Given the description of an element on the screen output the (x, y) to click on. 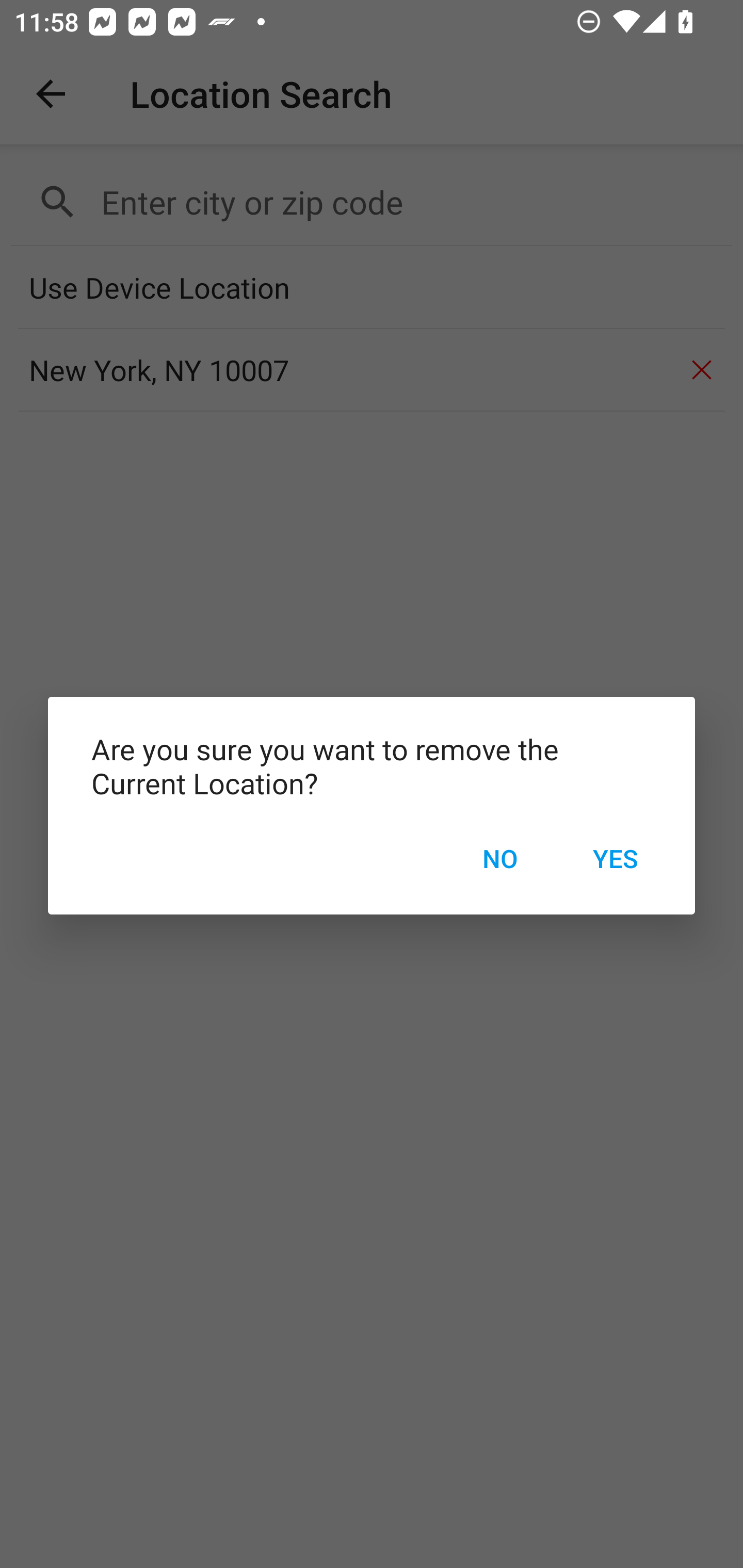
NO (499, 858)
YES (615, 858)
